Given the description of an element on the screen output the (x, y) to click on. 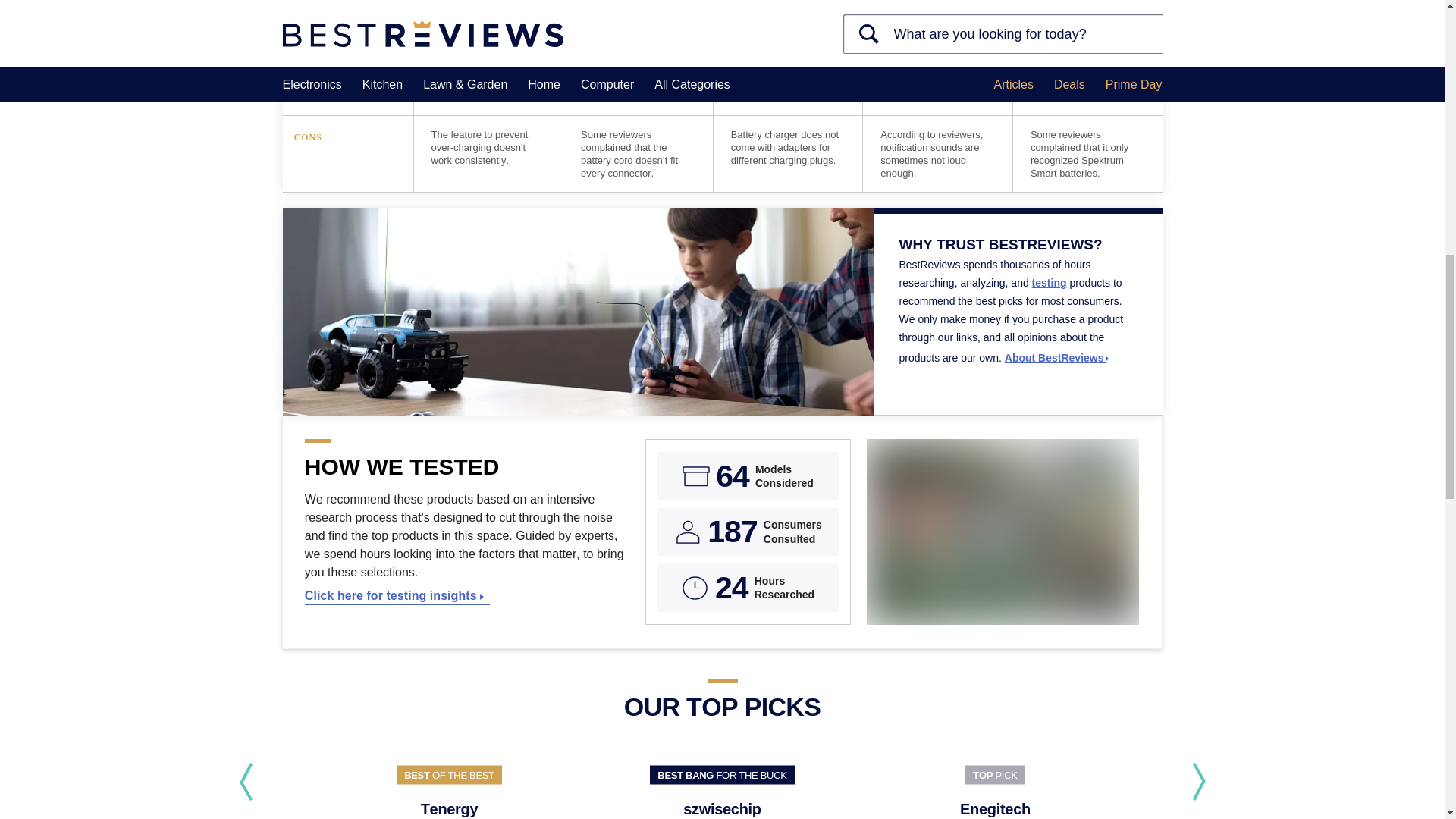
About BestReviews   (1056, 357)
testing (1049, 282)
Previous (244, 781)
